Given the description of an element on the screen output the (x, y) to click on. 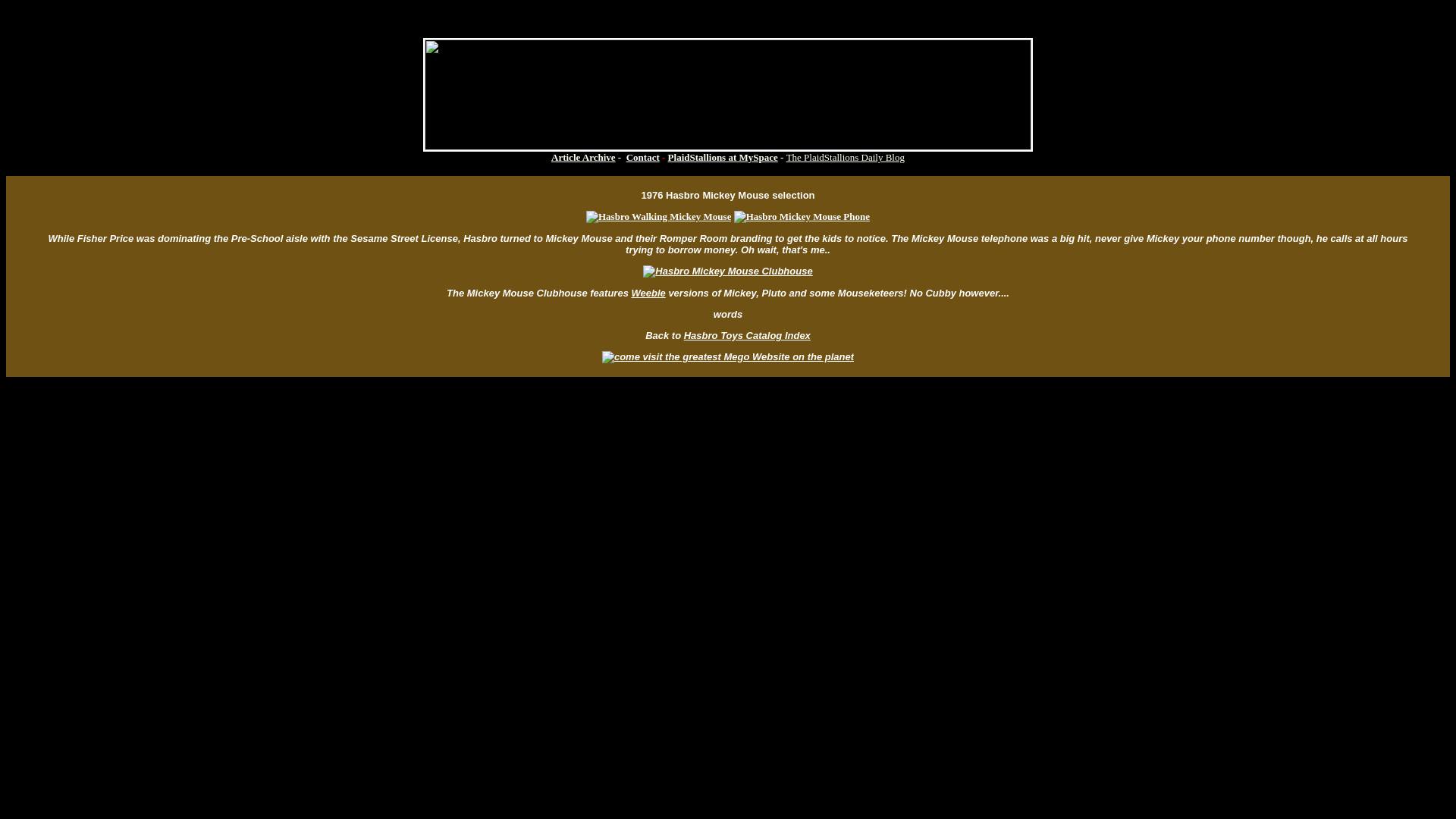
come visit the greatest Mego Website on the planet (727, 357)
Contact (642, 156)
Hasbro Toys Catalog Index (747, 335)
Hasbro Mickey Mouse Phone (801, 216)
PlaidStallions at MySpace (722, 156)
The PlaidStallions Daily Blog (845, 156)
Weeble (647, 292)
Hasbro Mickey Mouse Clubhouse (727, 271)
Hasbro Walking Mickey Mouse (658, 216)
Article Archive (583, 156)
